Given the description of an element on the screen output the (x, y) to click on. 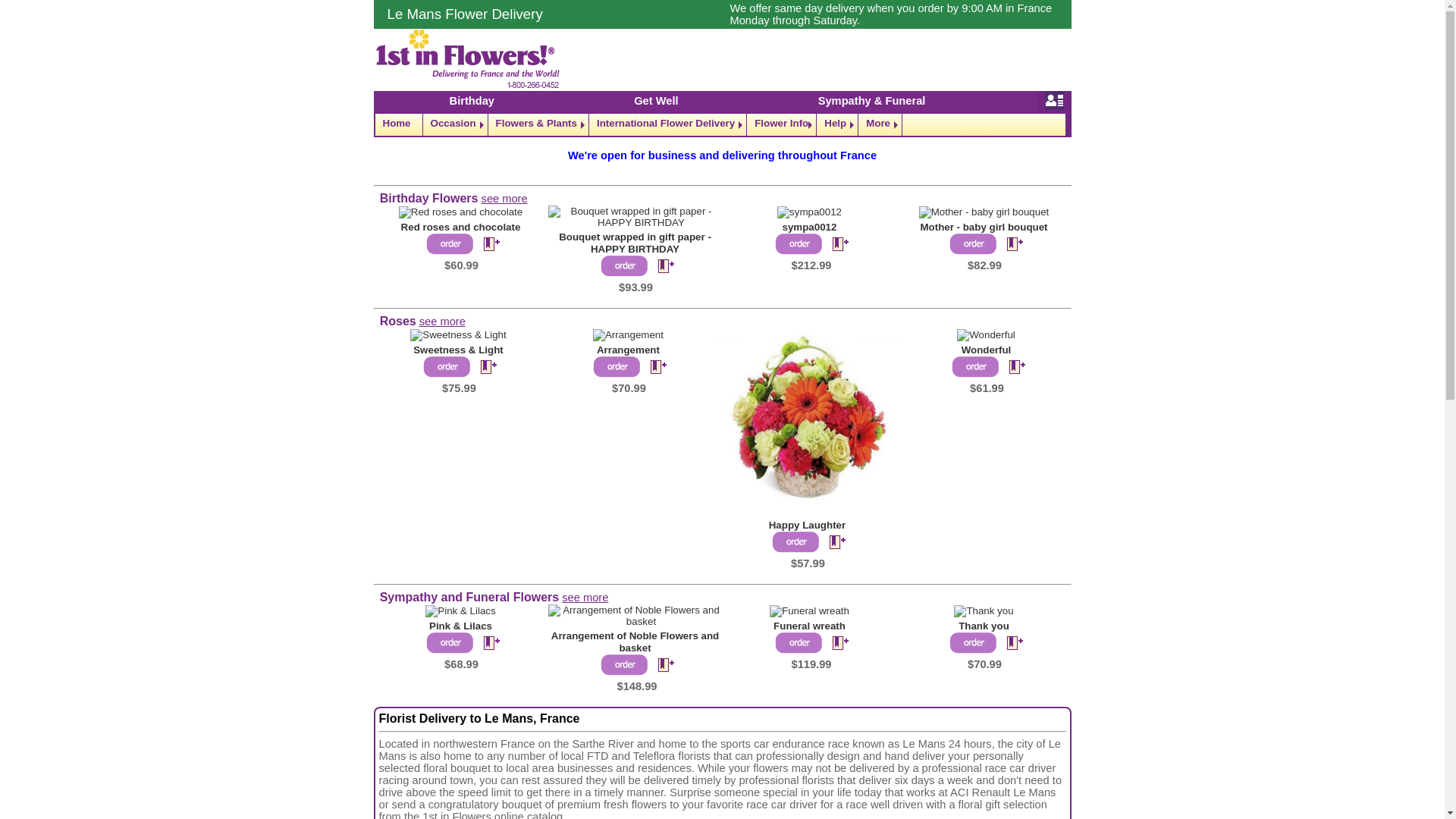
Birthday (472, 101)
Home (398, 124)
International Flower Delivery (667, 124)
Occasion (455, 124)
Get Well (655, 101)
